Given the description of an element on the screen output the (x, y) to click on. 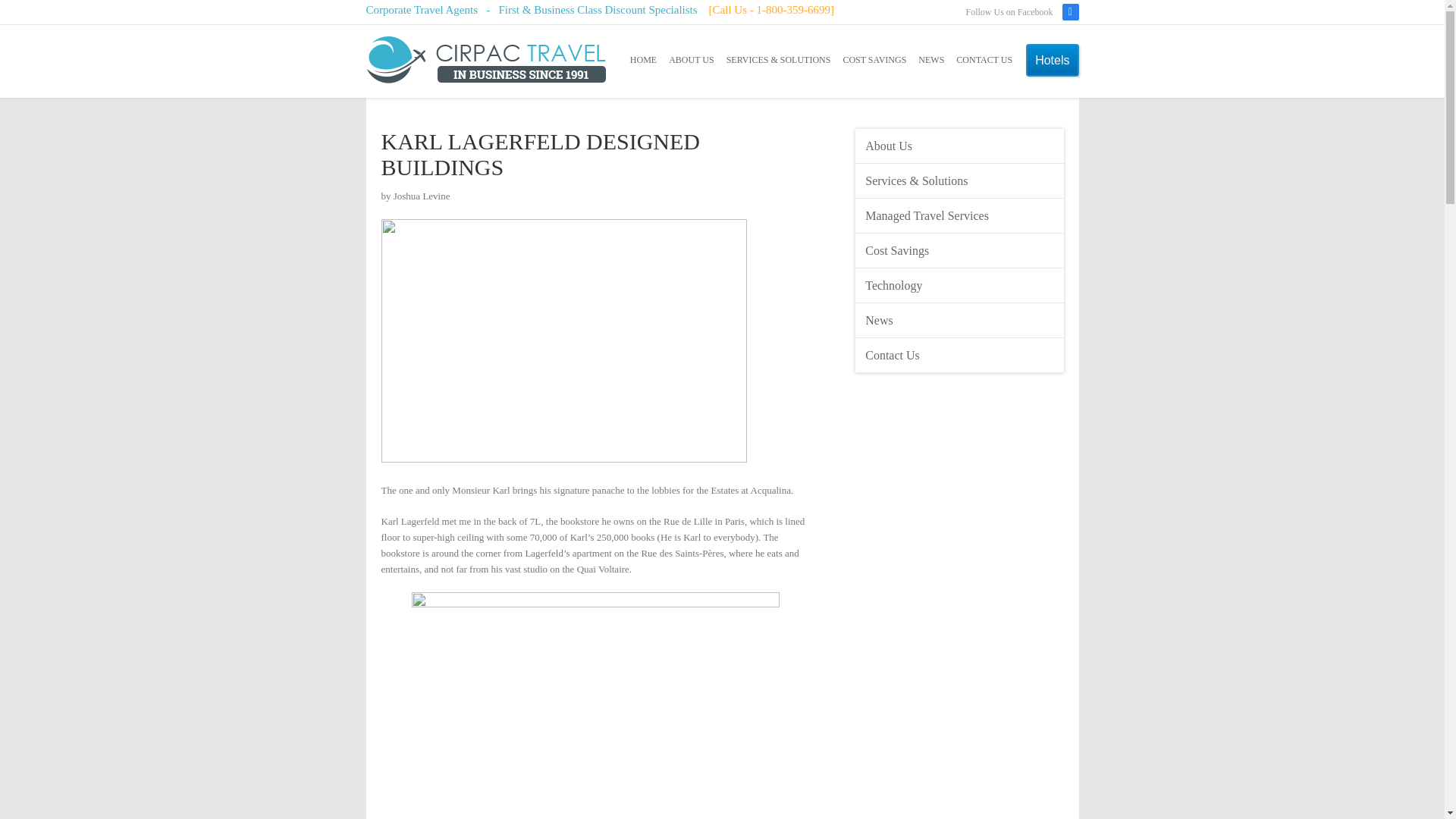
News (960, 320)
HOME (643, 60)
Cirpac Travel (485, 61)
ABOUT US (690, 60)
Technology (960, 285)
CONTACT US (983, 60)
Cost Savings (960, 250)
NEWS (931, 60)
COST SAVINGS (873, 60)
Hotels (1052, 60)
Contact Us (960, 355)
Managed Travel Services (960, 216)
About Us (960, 145)
